Given the description of an element on the screen output the (x, y) to click on. 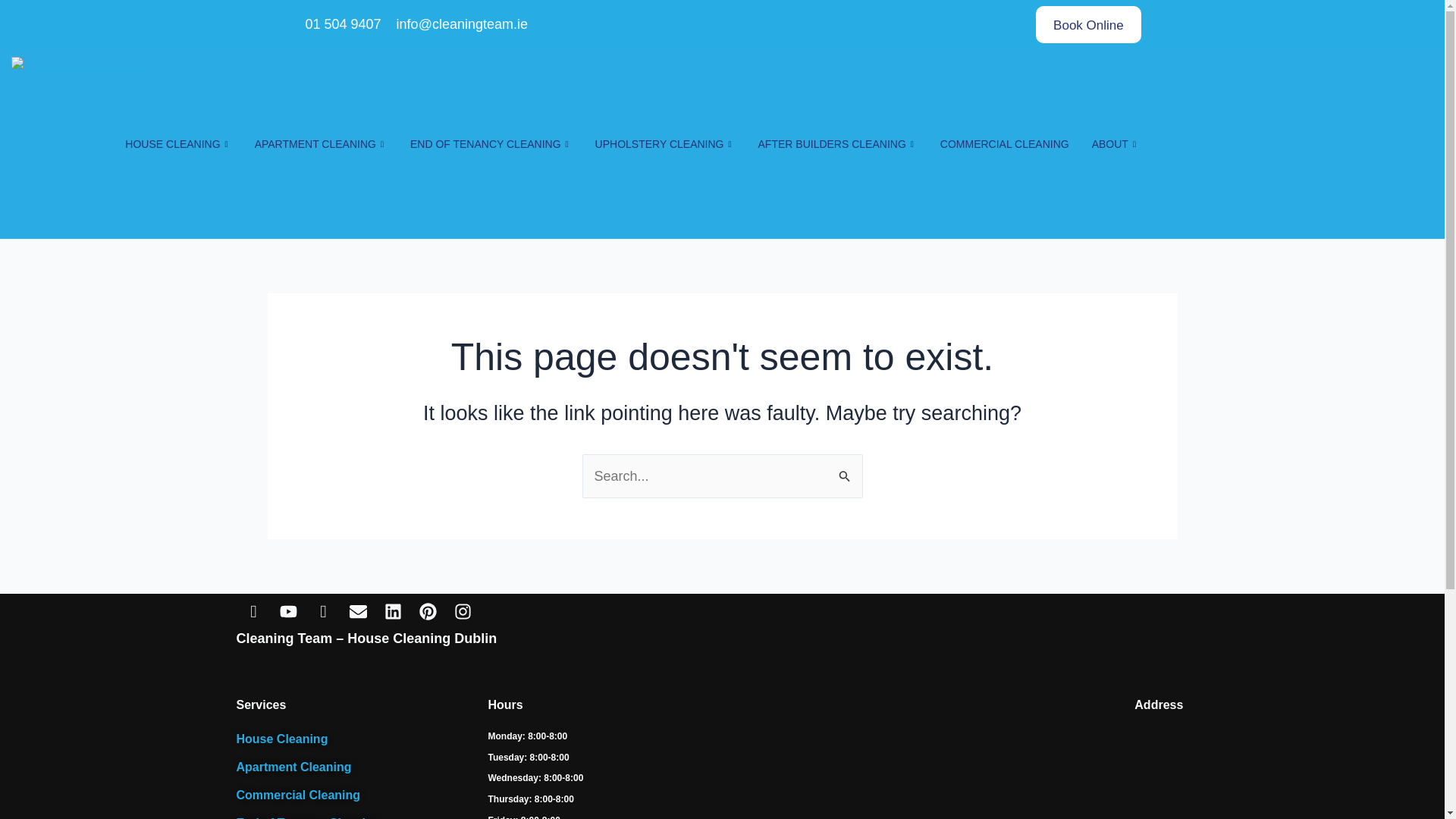
Search (844, 470)
APARTMENT CLEANING (320, 143)
HOUSE CLEANING (178, 143)
Book Online (1088, 24)
Search (844, 470)
01 504 9407 (341, 24)
